Given the description of an element on the screen output the (x, y) to click on. 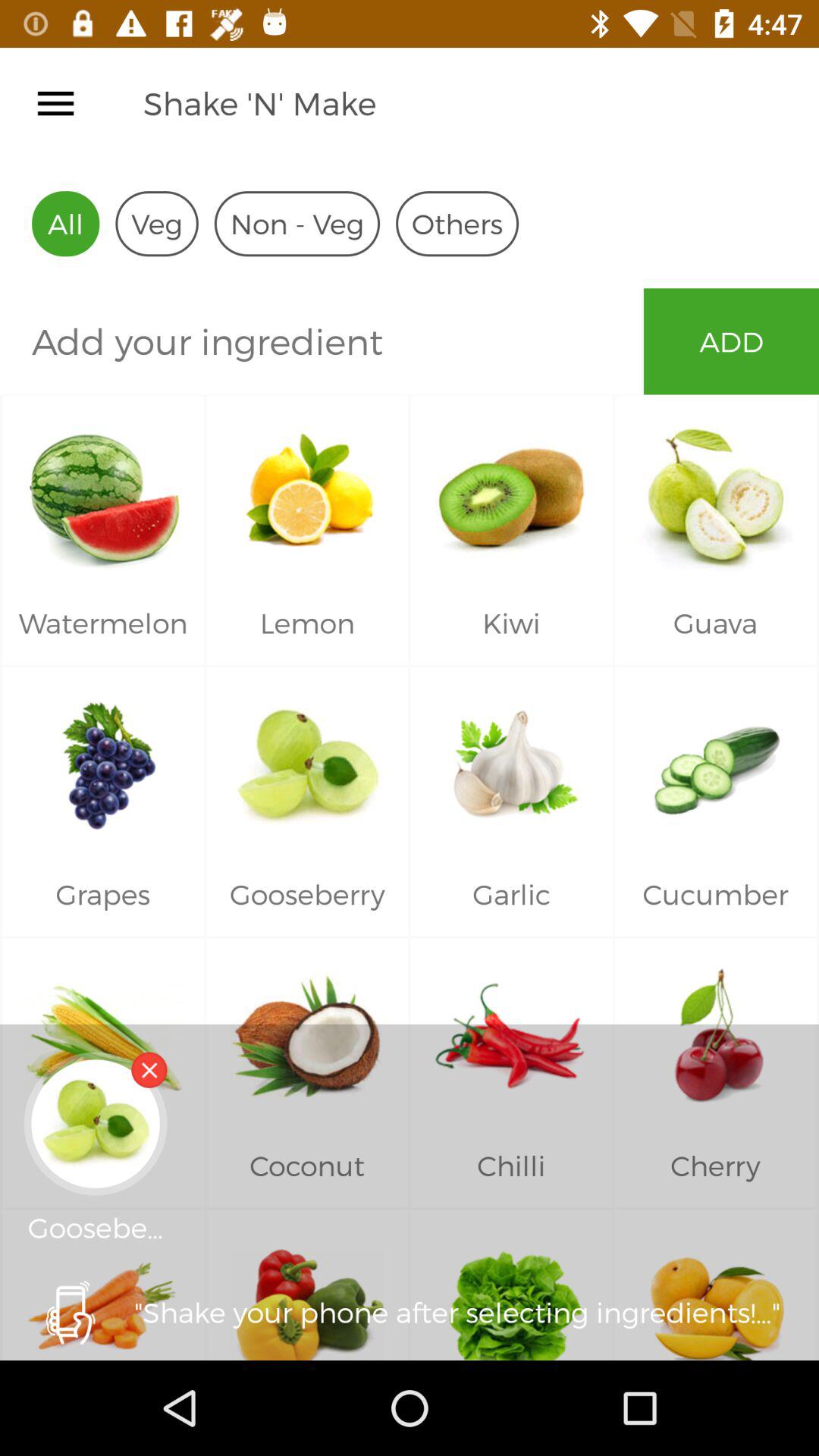
select the item to the left of add item (321, 341)
